Given the description of an element on the screen output the (x, y) to click on. 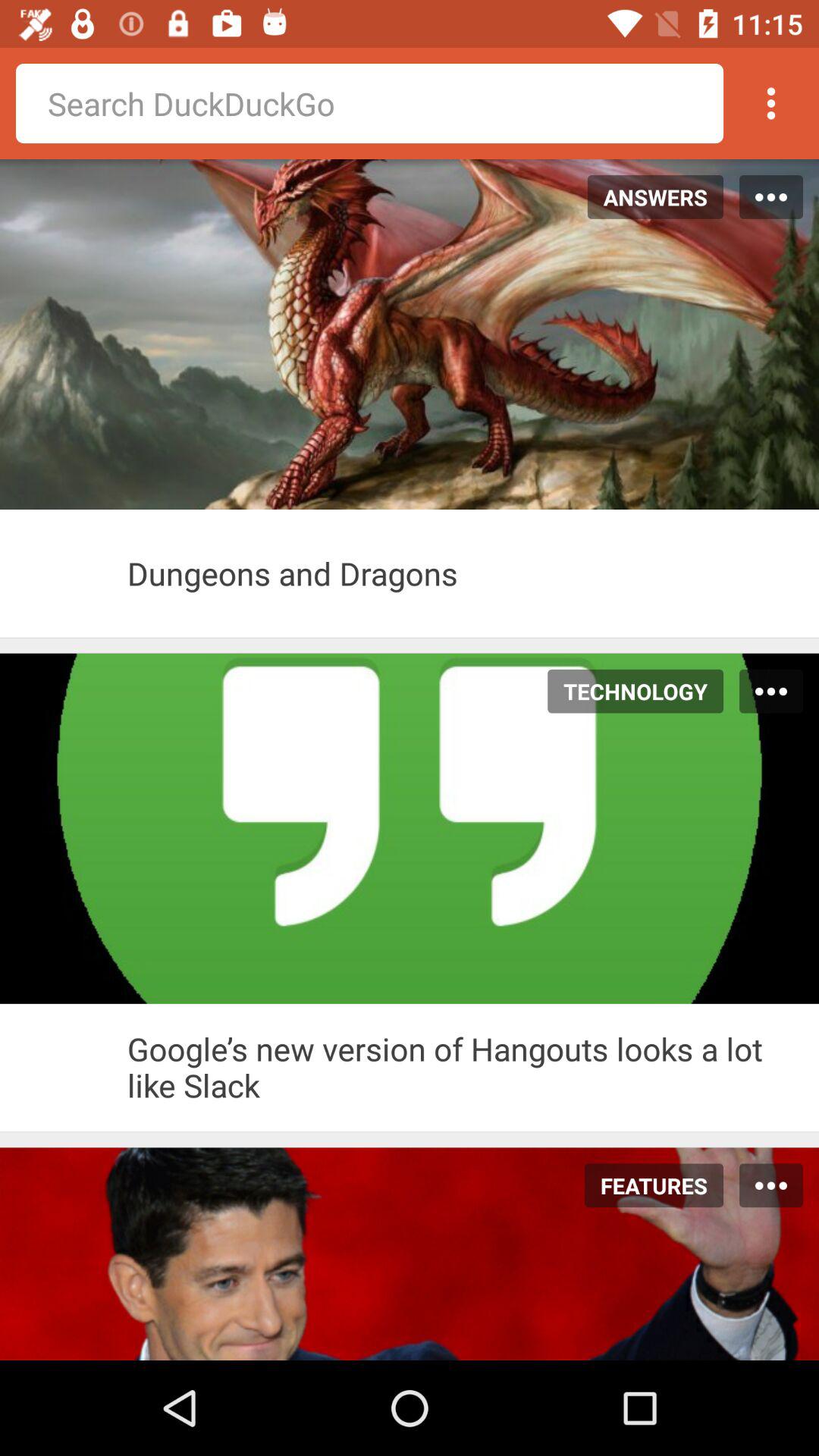
view the article (63, 1067)
